Given the description of an element on the screen output the (x, y) to click on. 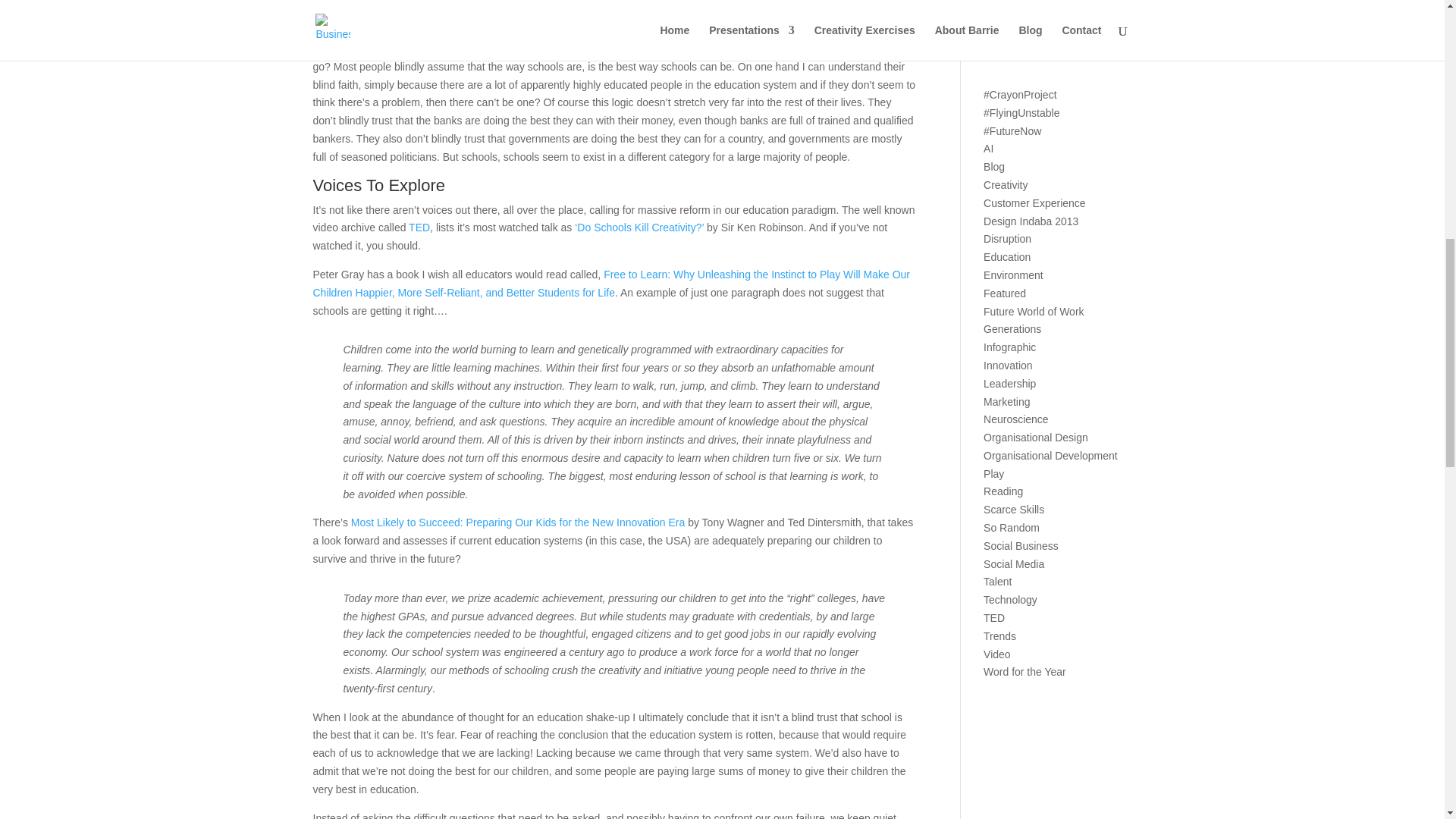
Featured (1005, 293)
Generations (1012, 328)
Blog (994, 166)
Future World of Work (1034, 311)
Customer Experience (1035, 203)
Design Indaba 2013 (1031, 221)
Creativity (1005, 184)
Disruption (1007, 238)
Get 30 Play Invitations sent to you via Whatsapp for 30 Days (1057, 4)
Education (1007, 256)
Environment (1013, 275)
TED (419, 227)
